Given the description of an element on the screen output the (x, y) to click on. 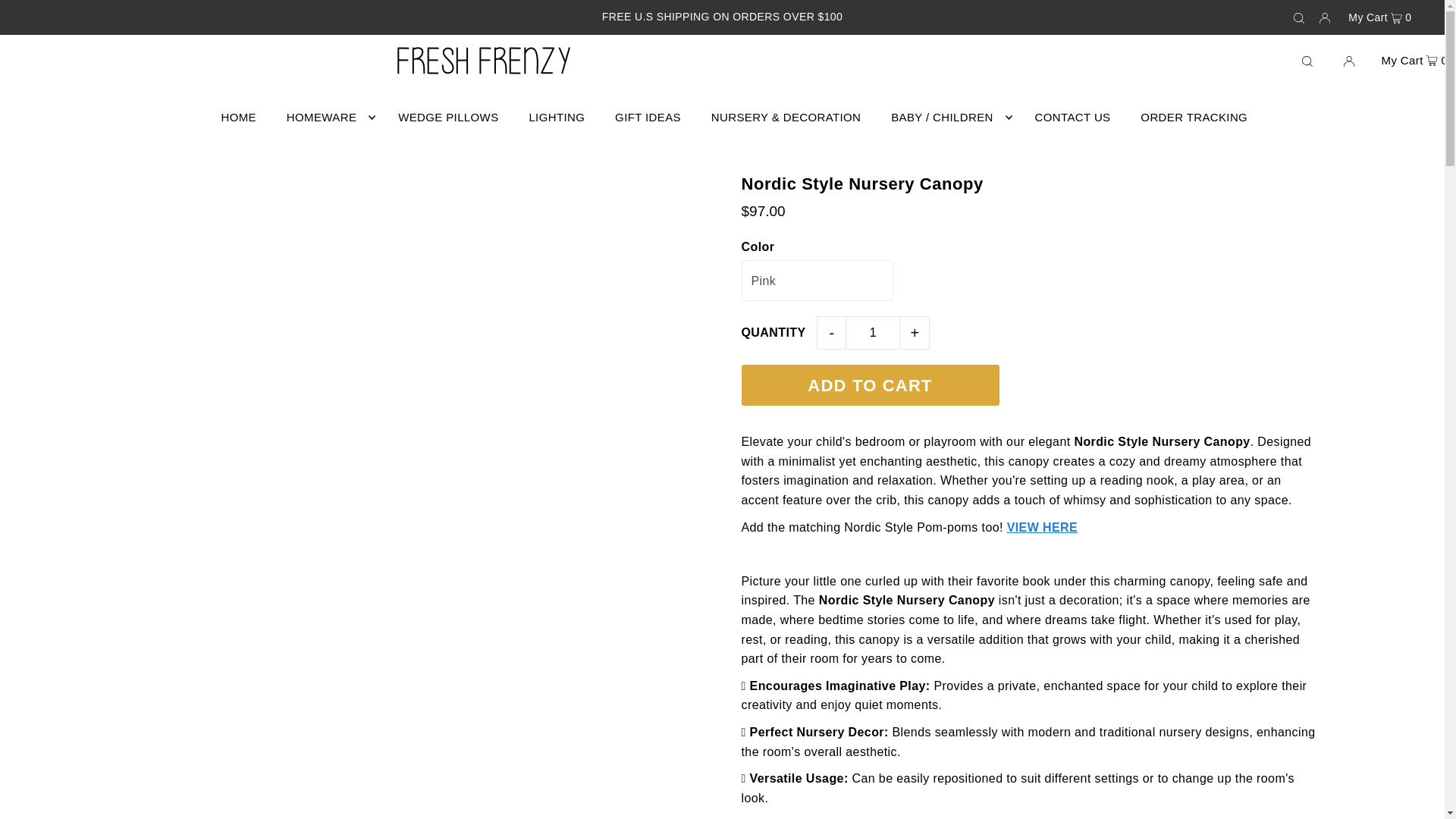
HOMEWARE (327, 117)
1 (872, 332)
Add to Cart (869, 384)
HOME (237, 117)
